Given the description of an element on the screen output the (x, y) to click on. 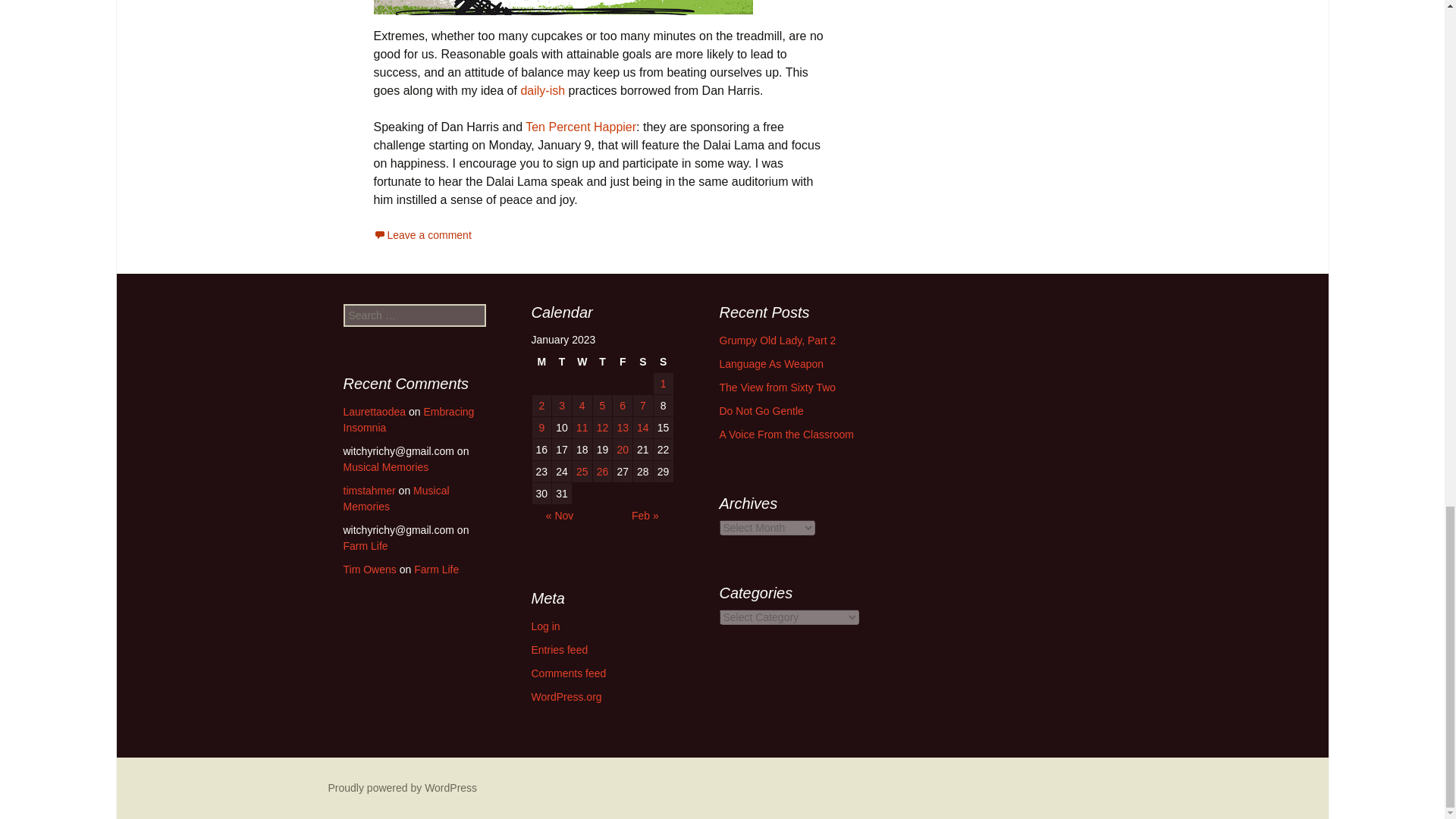
20 (621, 449)
Ten Percent Happier (580, 126)
daily-ish (541, 90)
3 (561, 405)
Sunday (662, 361)
5 (602, 405)
1 (662, 383)
Tuesday (561, 361)
Saturday (642, 361)
Thursday (602, 361)
12 (602, 427)
4 (582, 405)
11 (582, 427)
Friday (621, 361)
2 (541, 405)
